Given the description of an element on the screen output the (x, y) to click on. 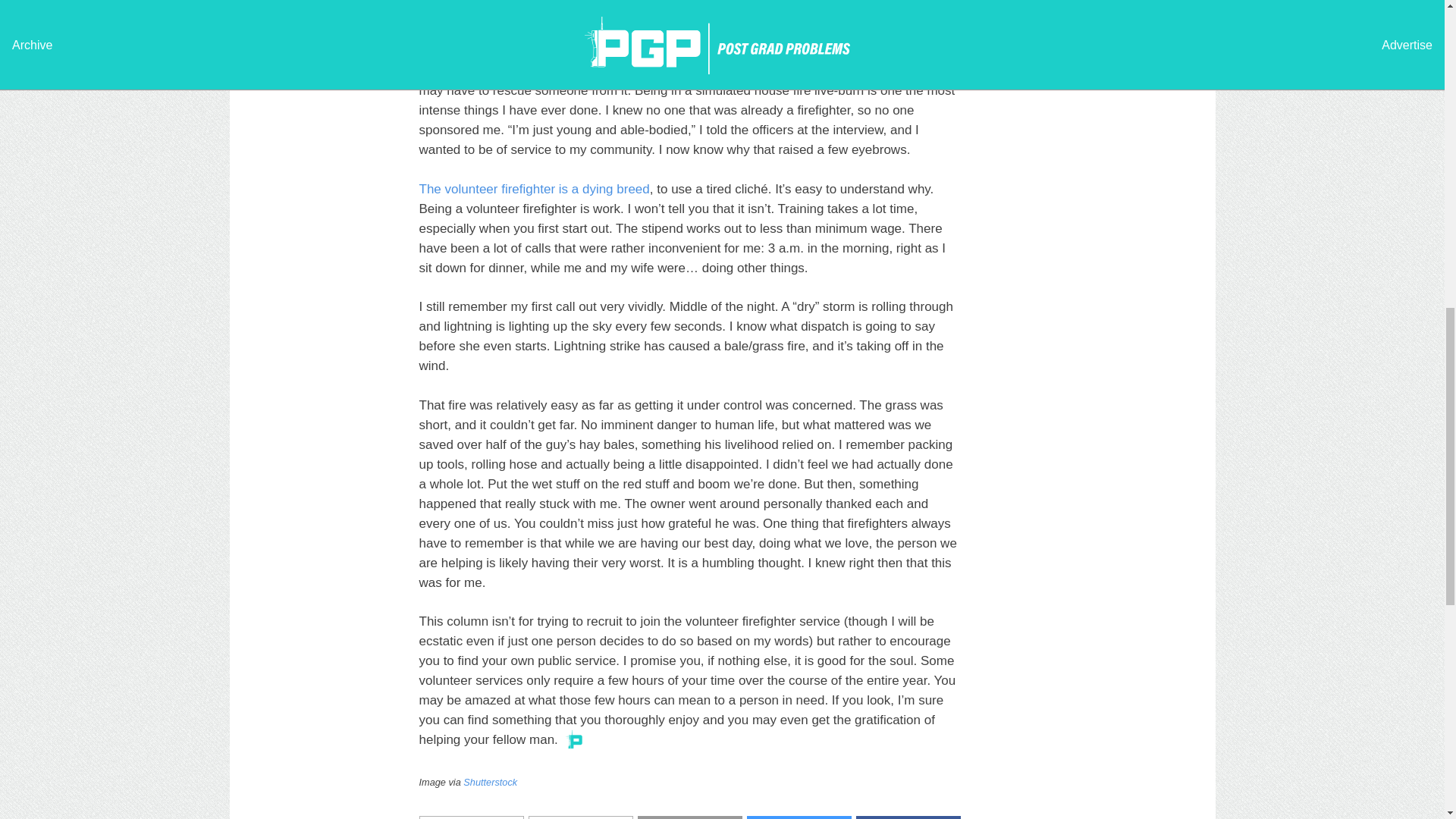
The volunteer firefighter is a dying breed (534, 188)
38 (470, 817)
Shutterstock (489, 781)
Respond (579, 817)
